Given the description of an element on the screen output the (x, y) to click on. 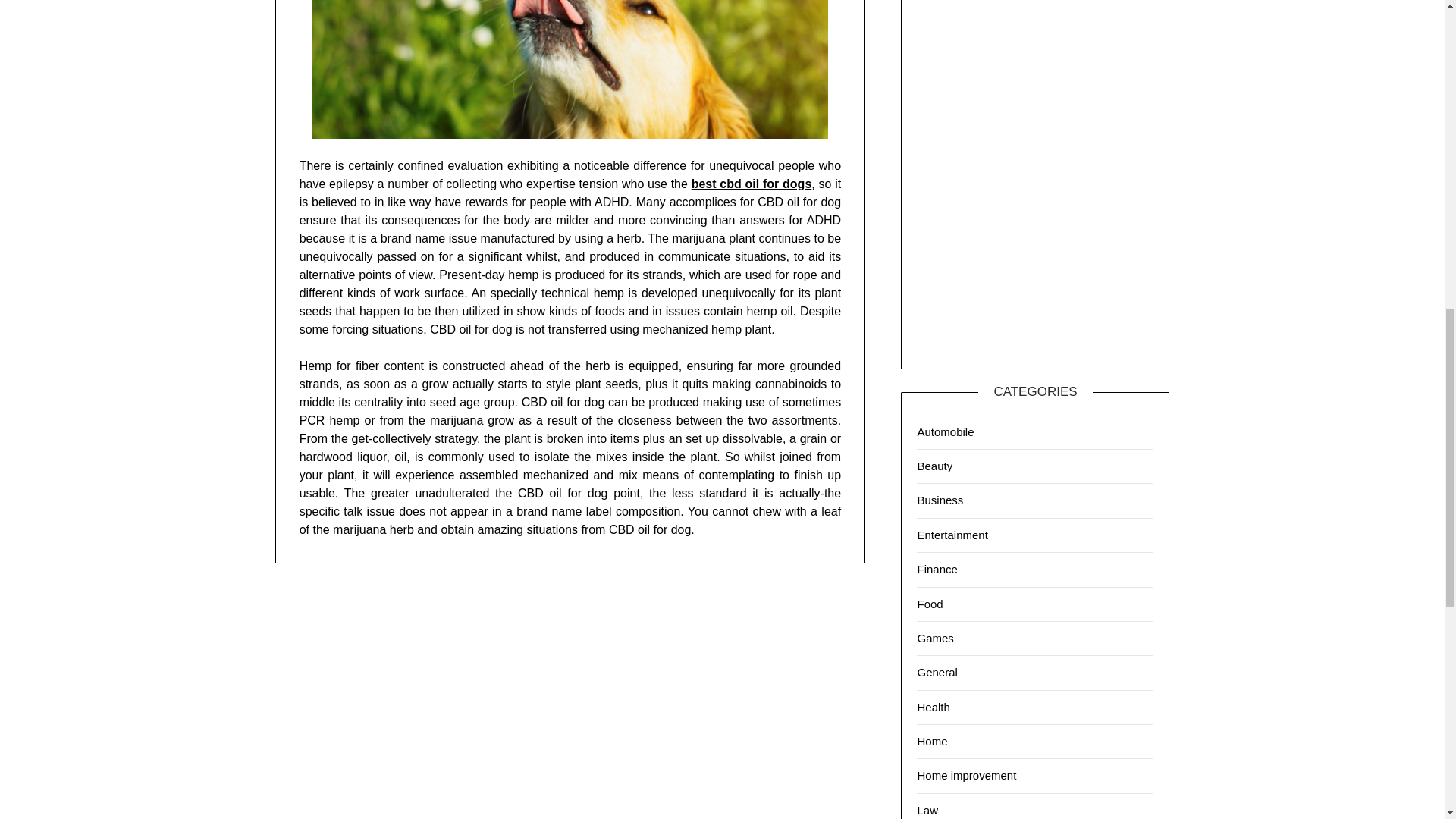
Home (932, 740)
Automobile (945, 431)
General (936, 671)
Games (935, 637)
Home improvement (966, 775)
Entertainment (952, 534)
Law (927, 809)
Food (929, 603)
Finance (936, 568)
best cbd oil for dogs (751, 183)
